Given the description of an element on the screen output the (x, y) to click on. 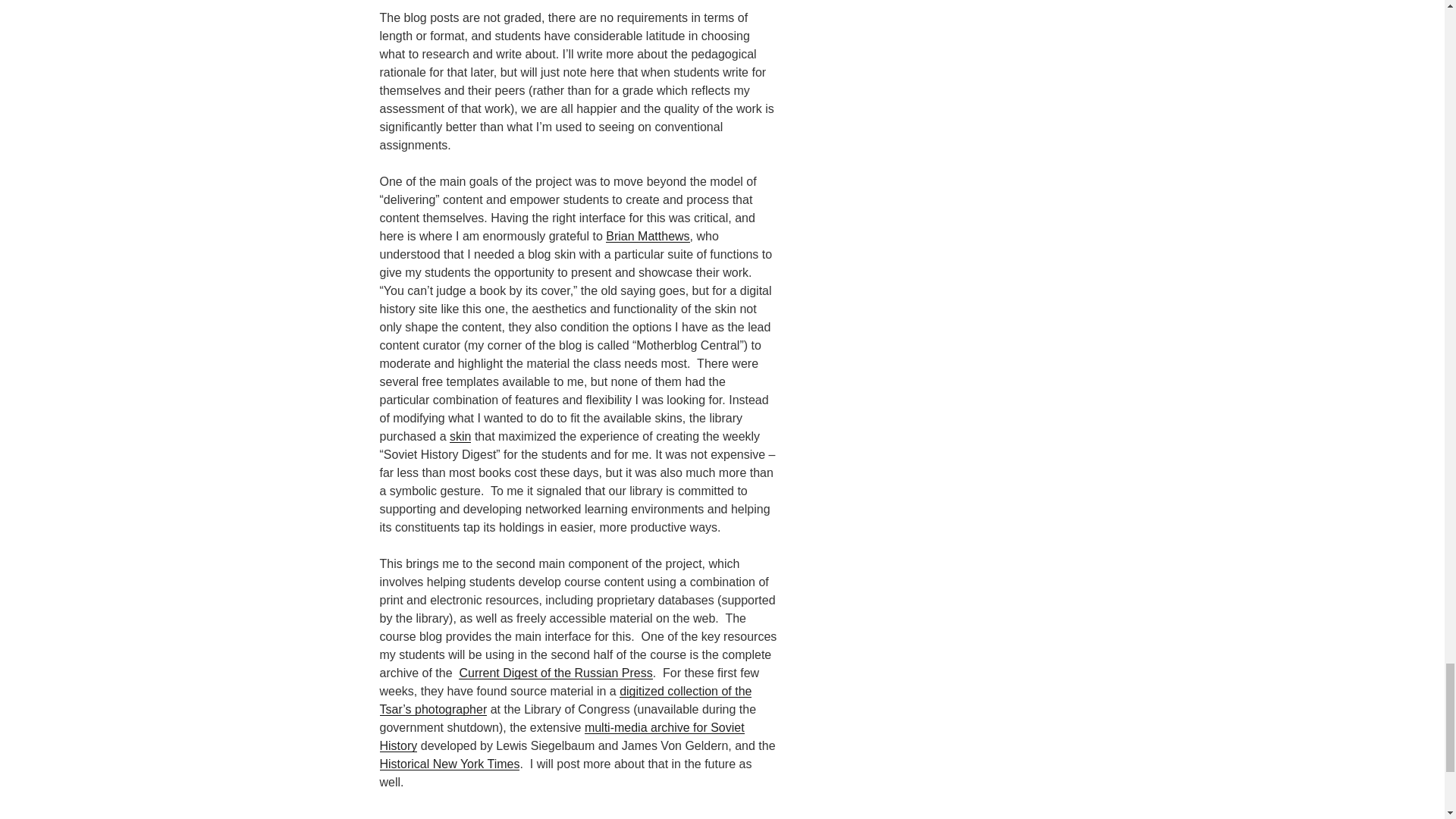
Current Digest of the Russian Press (555, 672)
skin (459, 436)
Brian Matthews (646, 236)
